Given the description of an element on the screen output the (x, y) to click on. 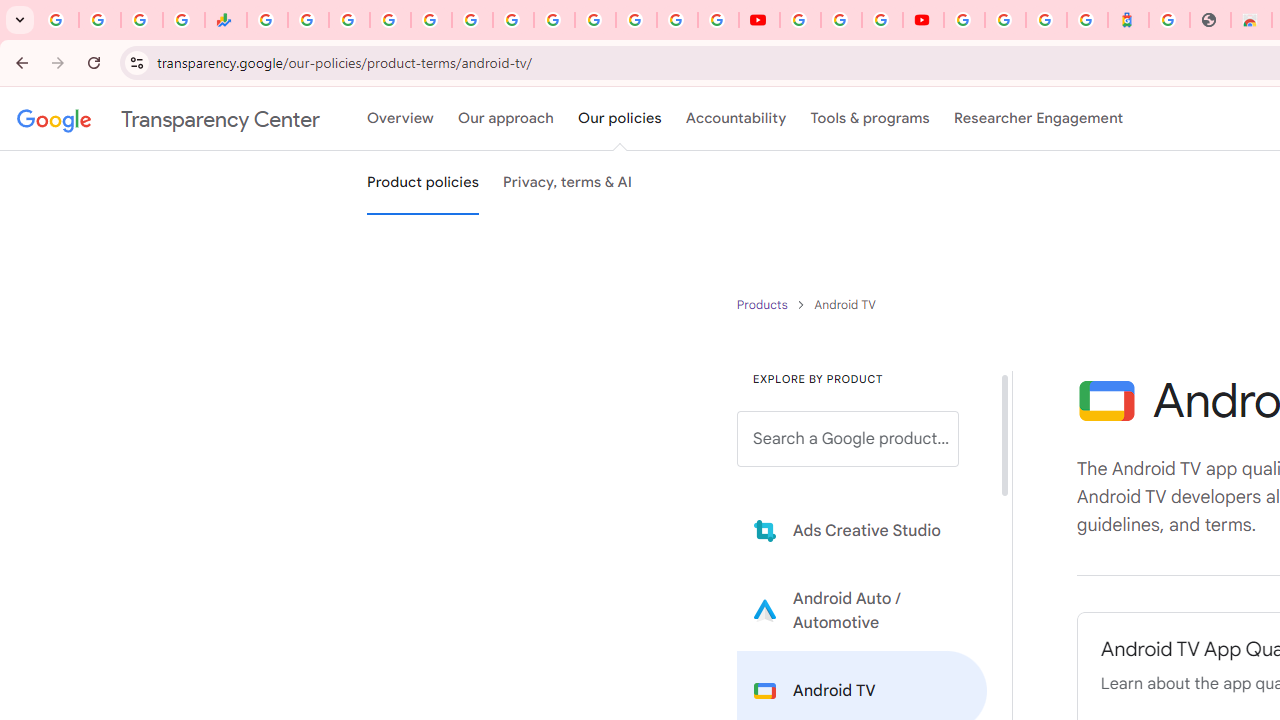
YouTube (799, 20)
Google Workspace Admin Community (58, 20)
Our approach (506, 119)
Sign in - Google Accounts (594, 20)
Learn more about Android Auto (862, 610)
Search a Google product from below list. (847, 439)
Content Creator Programs & Opportunities - YouTube Creators (923, 20)
Privacy Checkup (717, 20)
